Given the description of an element on the screen output the (x, y) to click on. 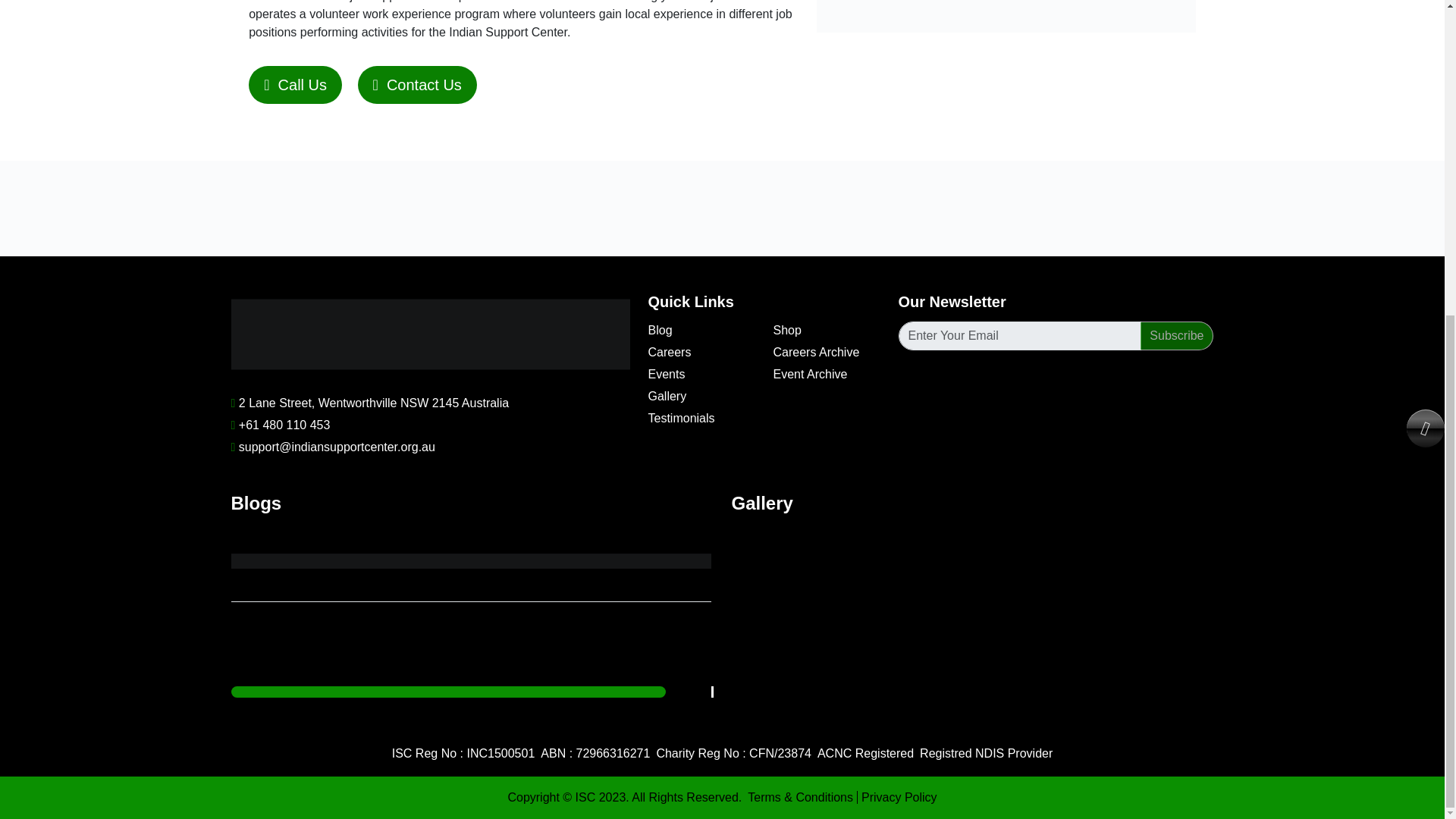
Contact Us (417, 85)
Call Us (295, 85)
Join Us in Making a Difference: Become a Volunteer! (471, 612)
